Given the description of an element on the screen output the (x, y) to click on. 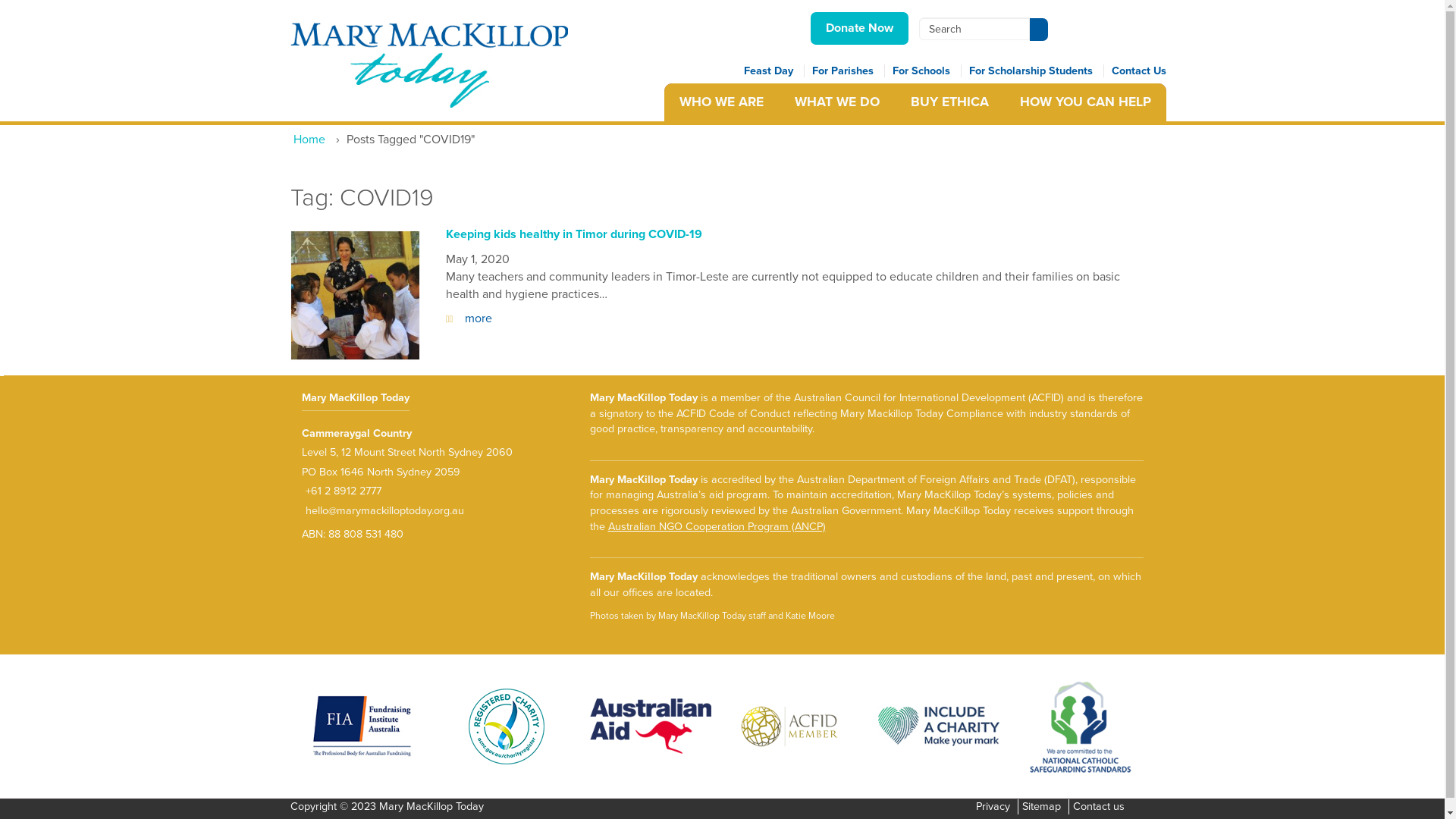
BUY ETHICA Element type: text (949, 102)
For Parishes Element type: text (847, 70)
Contact Us Element type: text (1138, 70)
WHAT WE DO Element type: text (836, 102)
HOW YOU CAN HELP Element type: text (1085, 102)
+61 2 8912 2777 Element type: text (341, 490)
hello@marymackilloptoday.org.au Element type: text (382, 510)
Keeping kids healthy in Timor during COVID-19 Element type: text (573, 233)
Facebook Element type: text (1057, 39)
WHO WE ARE Element type: text (721, 102)
For Schools Element type: text (925, 70)
Privacy Element type: text (992, 806)
Sitemap Element type: text (1041, 806)
Contact us Element type: text (1097, 806)
Australian NGO Cooperation Program (ANCP) Element type: text (716, 526)
Feast Day Element type: text (773, 70)
more Element type: text (468, 318)
Instagram Element type: text (1064, 39)
Home Element type: text (310, 139)
Instagram Element type: text (1060, 39)
Submit search Element type: text (1038, 29)
For Scholarship Students Element type: text (1036, 70)
Donate Now Element type: text (858, 28)
